Given the description of an element on the screen output the (x, y) to click on. 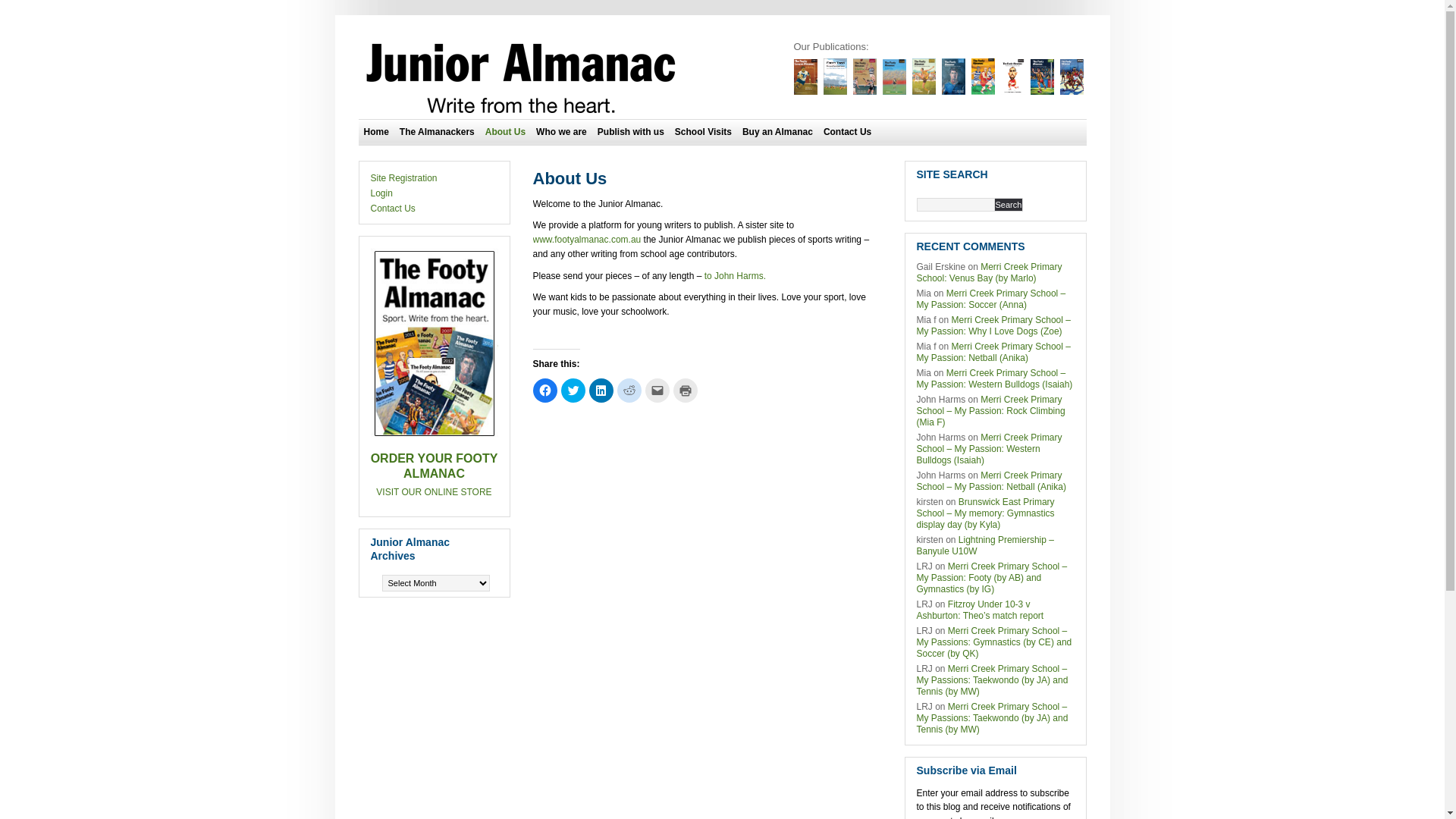
The Almanackers Element type: text (437, 131)
Click to print (Opens in new window) Element type: text (685, 390)
Home Element type: text (375, 131)
www.footyalmanac.com.au Element type: text (586, 239)
Contact Us Element type: text (847, 131)
School Visits Element type: text (703, 131)
Click to share on Facebook (Opens in new window) Element type: text (544, 390)
Click to share on Twitter (Opens in new window) Element type: text (573, 390)
Contact Us Element type: text (392, 208)
VISIT OUR ONLINE STORE Element type: text (433, 491)
Click to email a link to a friend (Opens in new window) Element type: text (656, 390)
Click to share on LinkedIn (Opens in new window) Element type: text (600, 390)
Publish with us Element type: text (630, 131)
Buy an Almanac Element type: text (777, 131)
Login Element type: text (381, 193)
Merri Creek Primary School: Venus Bay (by Marlo) Element type: text (988, 272)
Site Registration Element type: text (403, 177)
Who we are Element type: text (561, 131)
Click to share on Reddit (Opens in new window) Element type: text (629, 390)
Search Element type: text (1007, 203)
JUNIOR ALMANAC Element type: text (520, 78)
to John Harms. Element type: text (733, 274)
About Us Element type: text (505, 131)
